Given the description of an element on the screen output the (x, y) to click on. 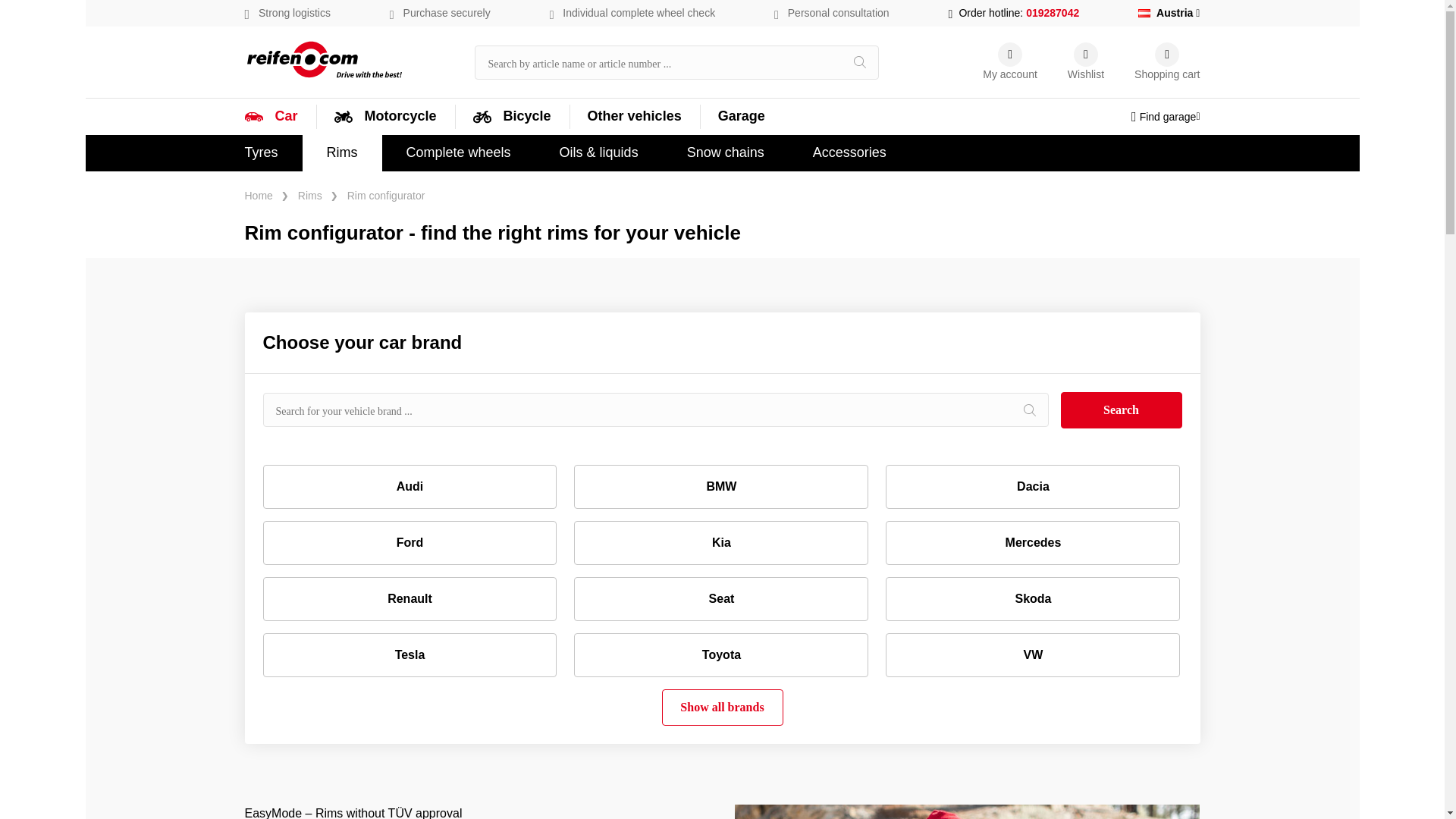
Rims (341, 151)
Car (295, 115)
My account (1009, 62)
Tyres (260, 151)
Shopping cart (1166, 62)
019287042 (1052, 12)
Wishlist (1085, 62)
Rim configurator - find the right rims for your vehicle (721, 233)
